Given the description of an element on the screen output the (x, y) to click on. 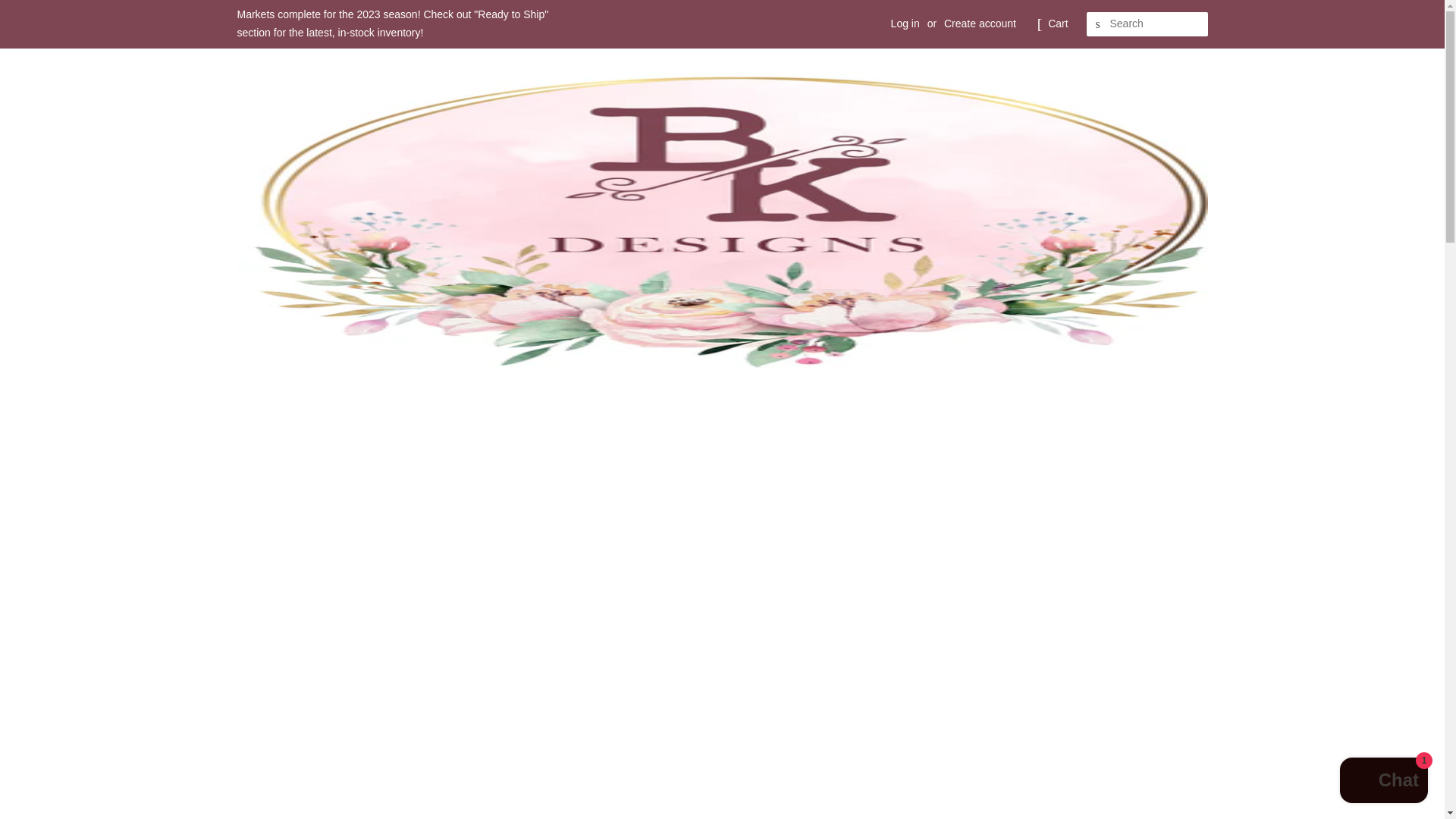
SEARCH (1097, 24)
Cart (1057, 24)
Log in (905, 23)
Shopify online store chat (1383, 781)
Create account (979, 23)
